Given the description of an element on the screen output the (x, y) to click on. 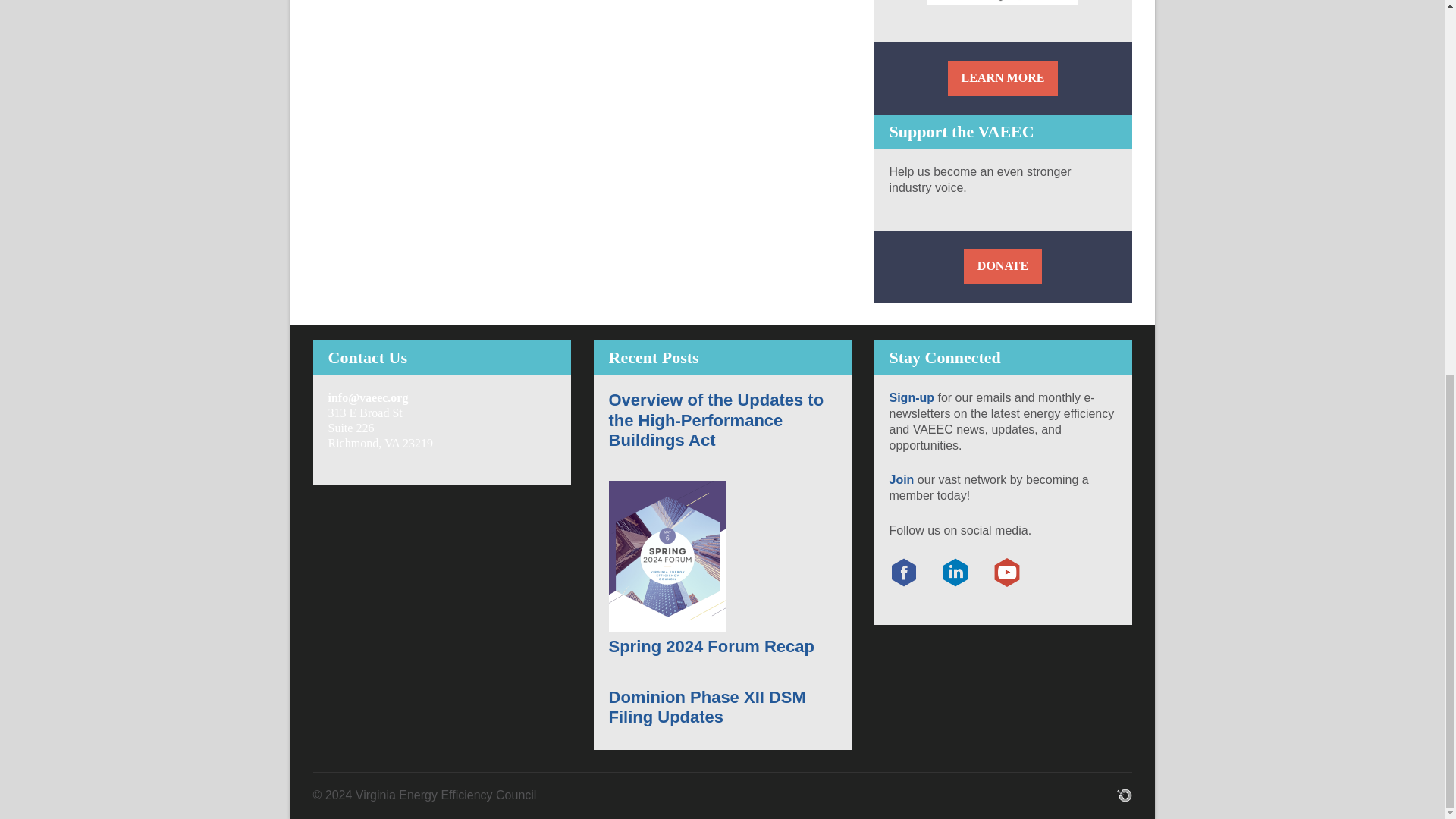
Dominion Phase XII DSM Filing Updates (706, 706)
Powered by the Forward theme from Organized Themes (1123, 794)
Spring 2024 Forum Recap (710, 646)
